Given the description of an element on the screen output the (x, y) to click on. 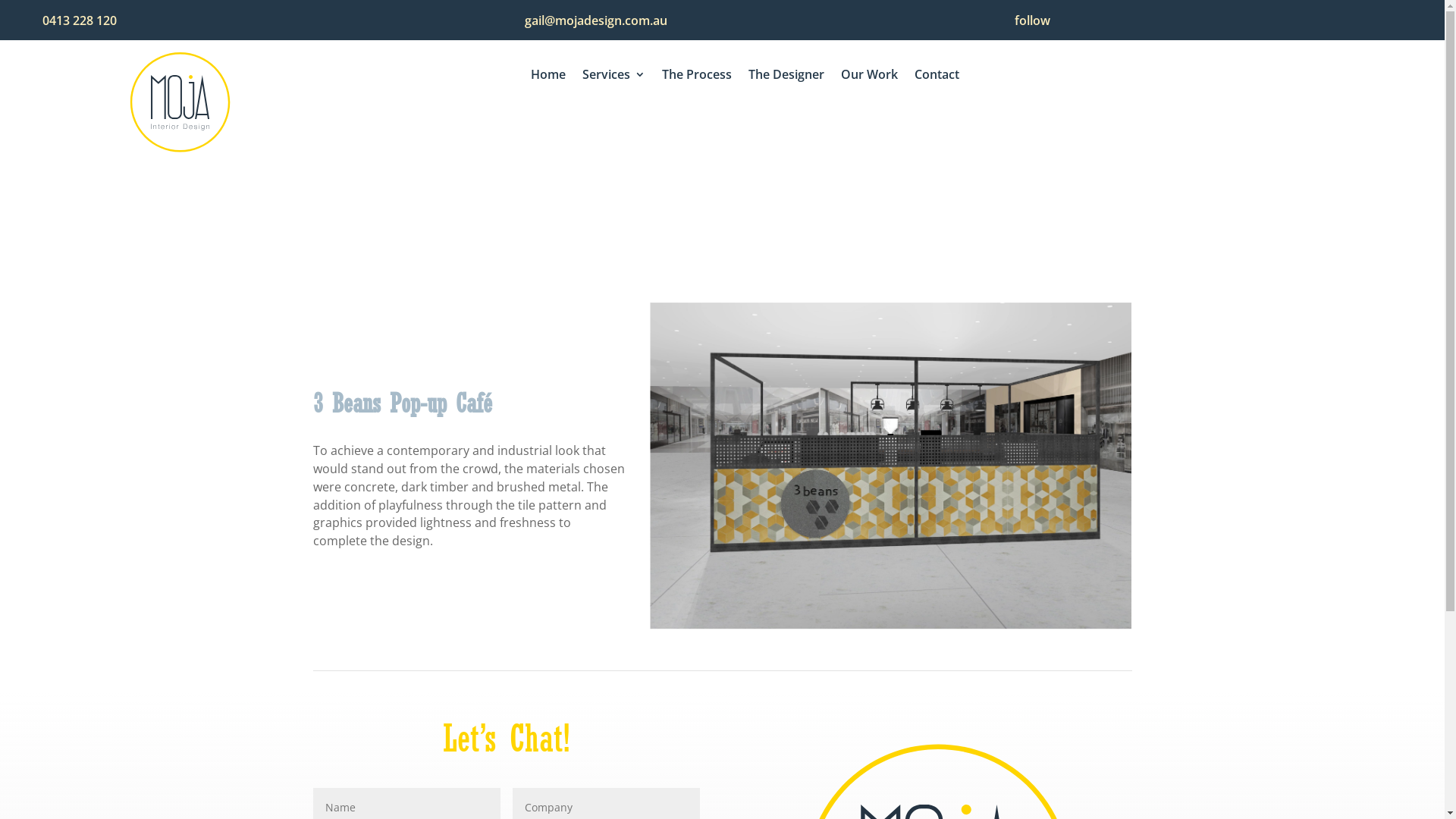
Our Work Element type: text (868, 77)
The Designer Element type: text (786, 77)
Contact Element type: text (936, 77)
follow Element type: text (1032, 20)
Moja logo Element type: hover (179, 101)
Services Element type: text (613, 77)
gail@mojadesign.com.au Element type: text (595, 20)
Home Element type: text (547, 77)
The Process Element type: text (696, 77)
0413 228 120 Element type: text (79, 20)
